Given the description of an element on the screen output the (x, y) to click on. 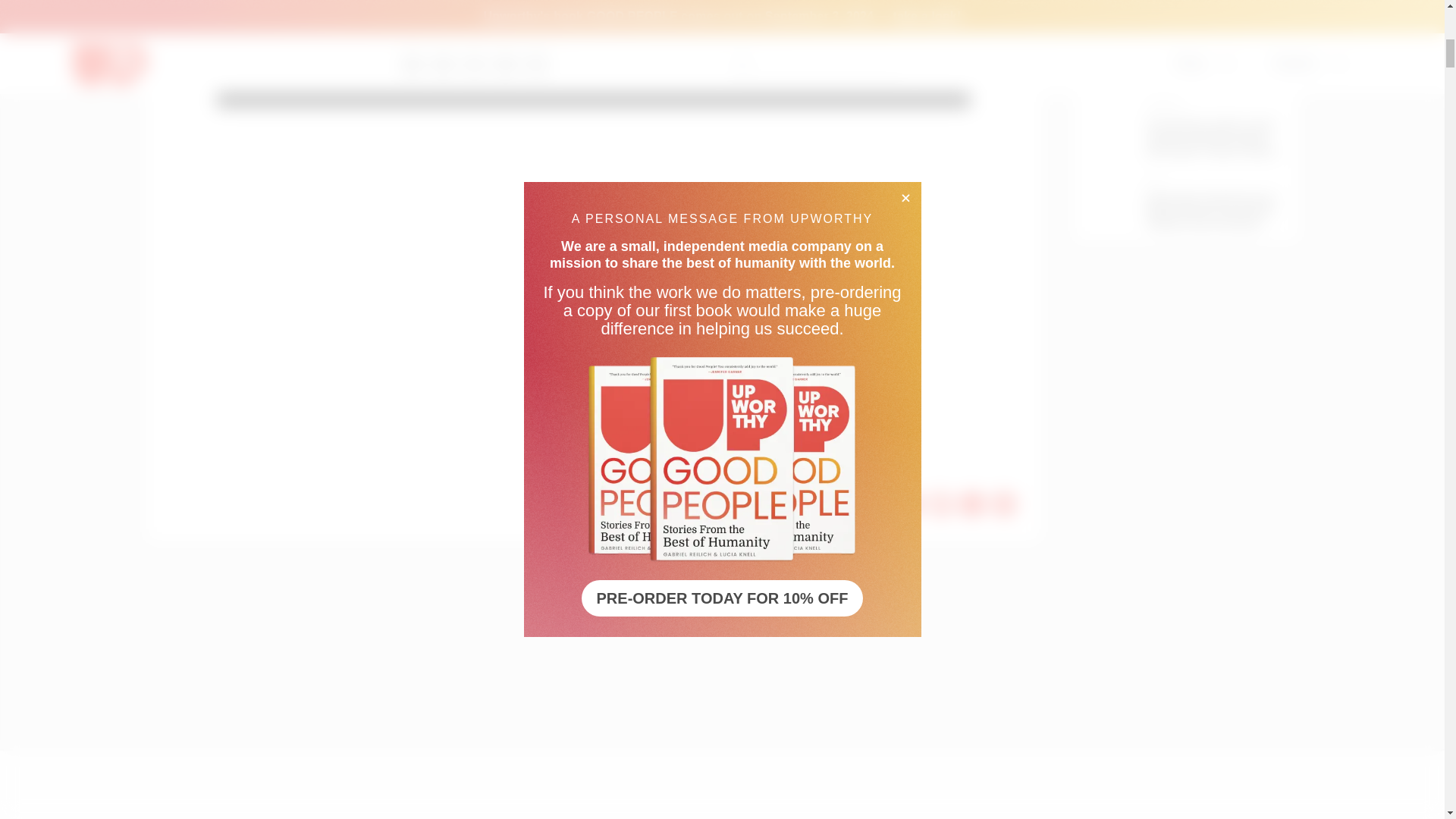
Copy this link to clipboard (1003, 504)
